Given the description of an element on the screen output the (x, y) to click on. 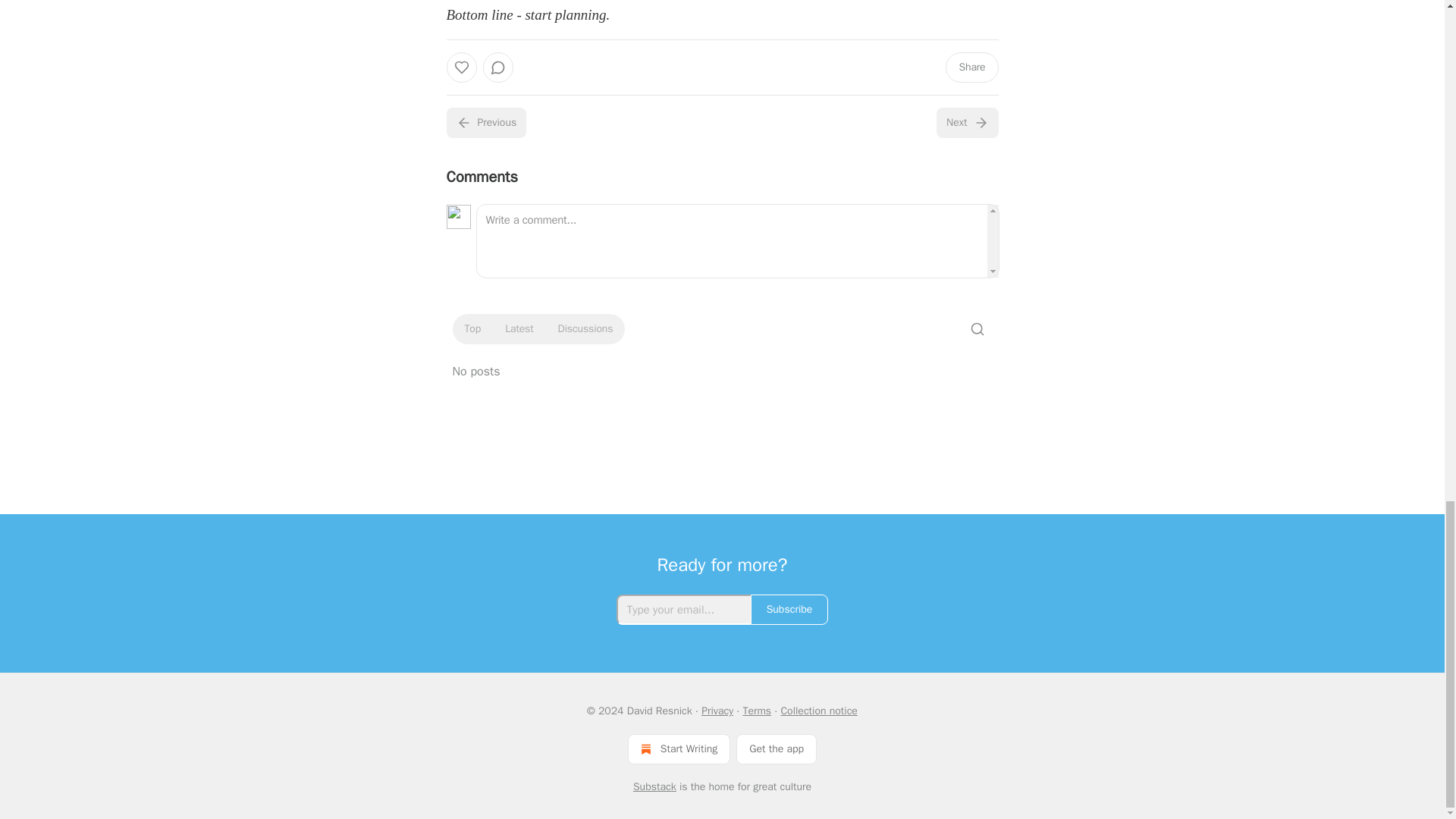
Share (970, 67)
Latest (518, 328)
Top (471, 328)
Next (966, 122)
Previous (485, 122)
Discussions (585, 328)
